Given the description of an element on the screen output the (x, y) to click on. 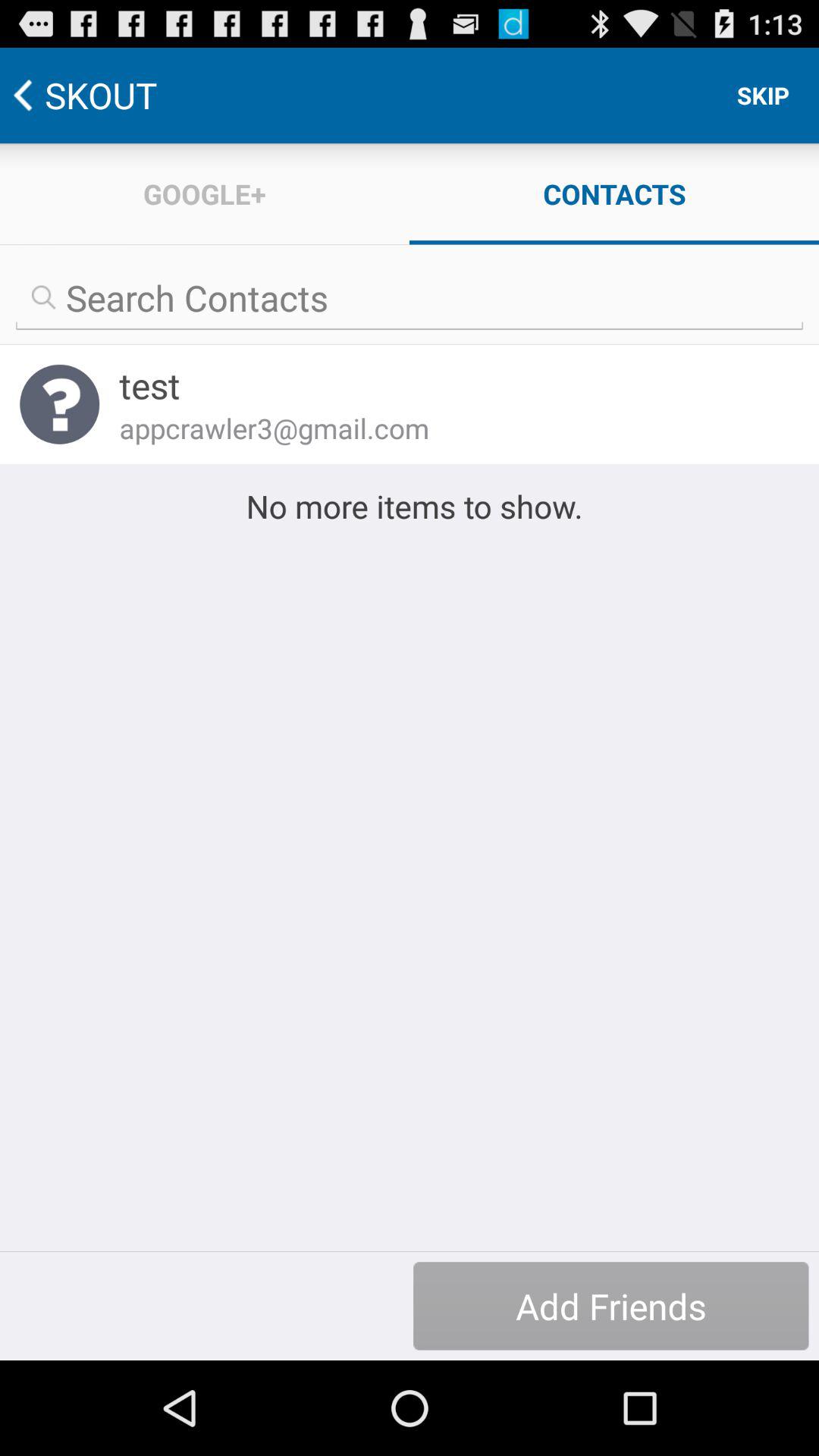
choose the no more items icon (409, 505)
